Given the description of an element on the screen output the (x, y) to click on. 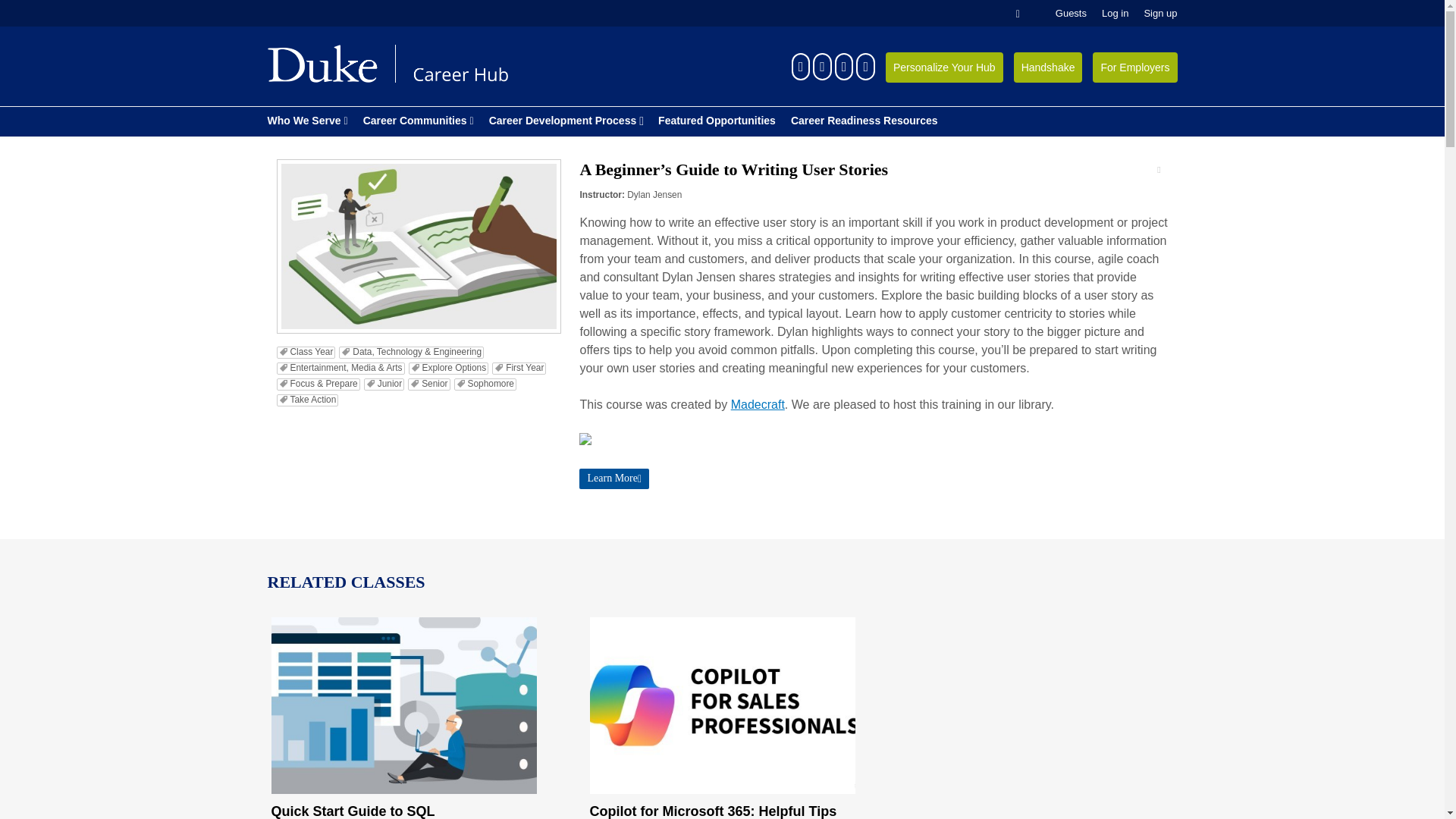
Personalize Your Hub (944, 67)
For Employers (1134, 67)
Sign up (1159, 13)
Log in to the guest contributors portal (1070, 13)
Handshake (1048, 67)
Submit Search (38, 9)
Log in (1115, 13)
Guests (1070, 13)
Career Communities (418, 120)
Who We Serve (307, 120)
Sign up for an account (1159, 13)
